Given the description of an element on the screen output the (x, y) to click on. 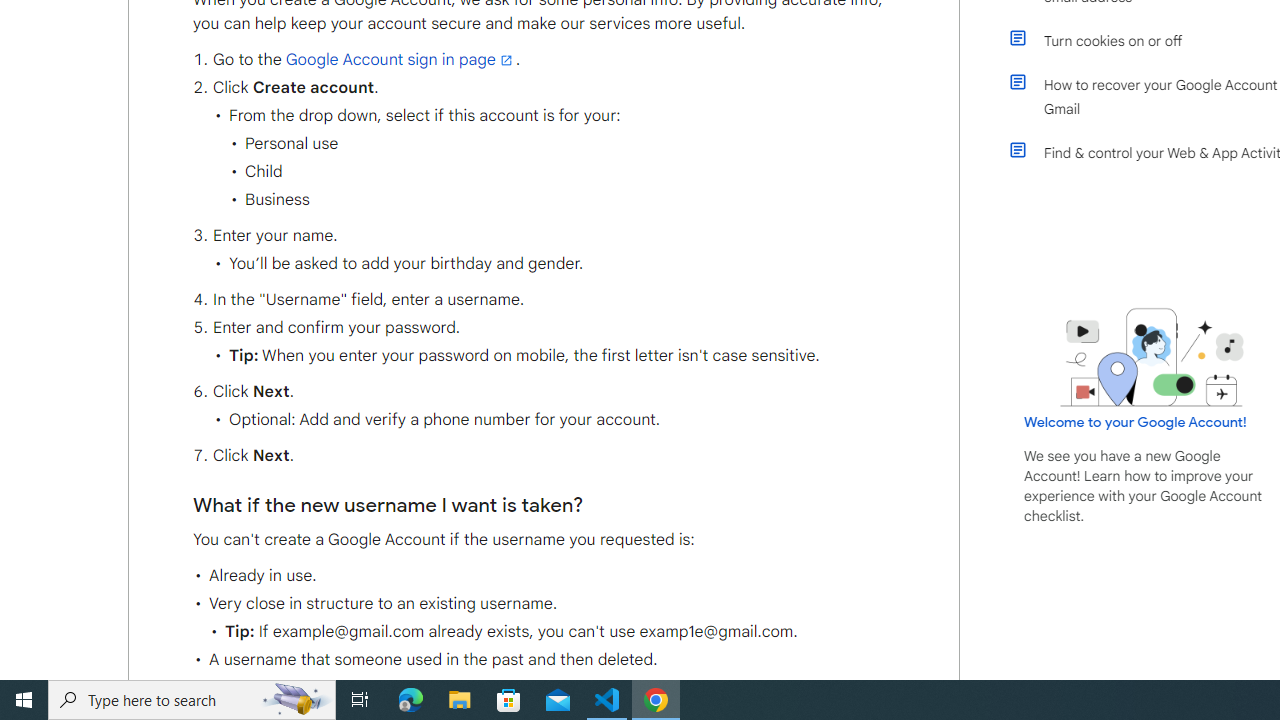
Google Account sign in page (400, 59)
Learning Center home page image (1152, 357)
Welcome to your Google Account! (1135, 422)
